Given the description of an element on the screen output the (x, y) to click on. 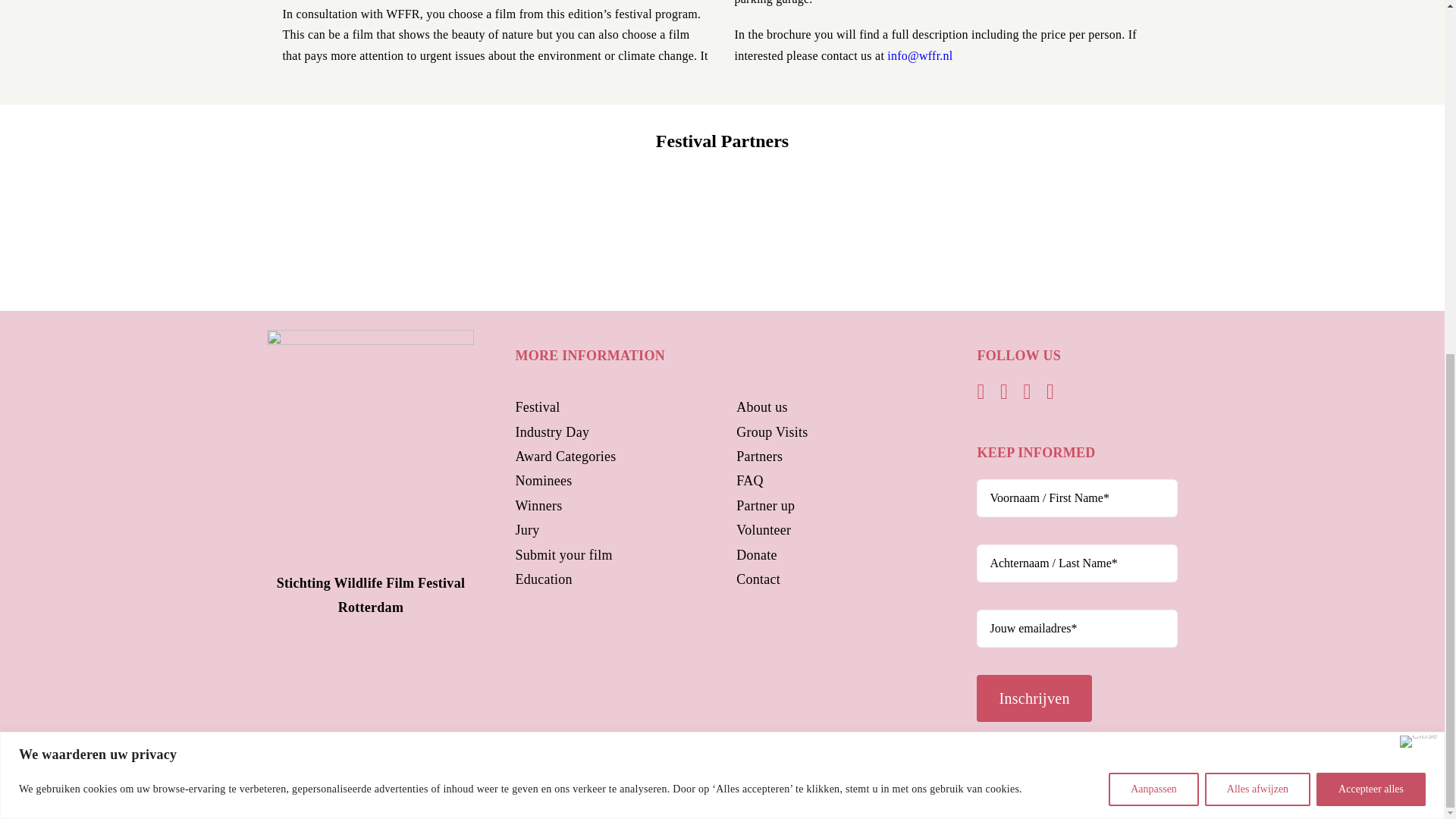
Award Categories (565, 456)
Festival (537, 406)
Alles afwijzen (1257, 170)
Accepteer alles (1370, 170)
Industry Day (552, 432)
Aanpassen (1153, 170)
